Given the description of an element on the screen output the (x, y) to click on. 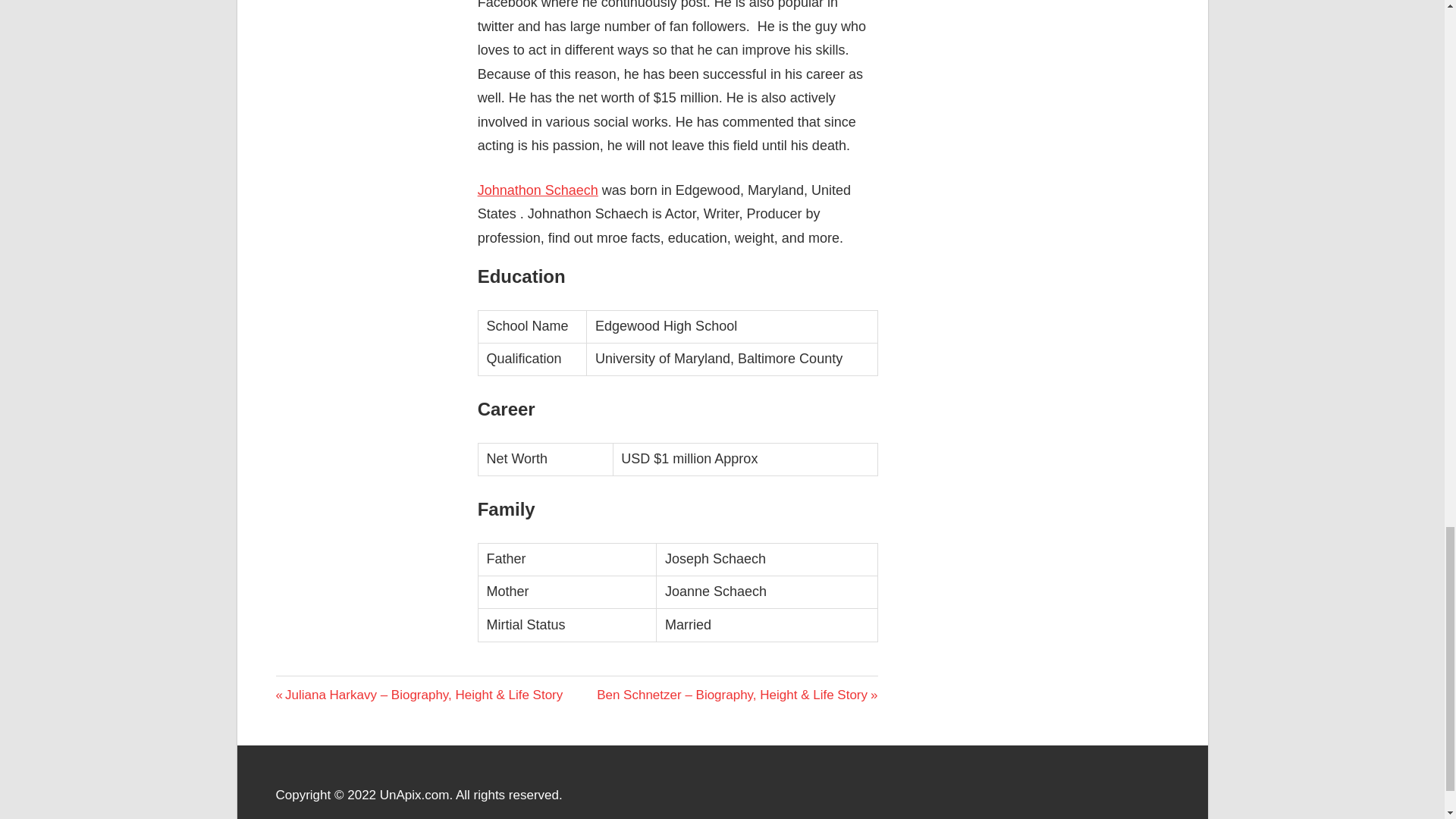
BIO (289, 685)
BIOGRAPHIES (321, 688)
Johnathon Schaech (537, 190)
